Given the description of an element on the screen output the (x, y) to click on. 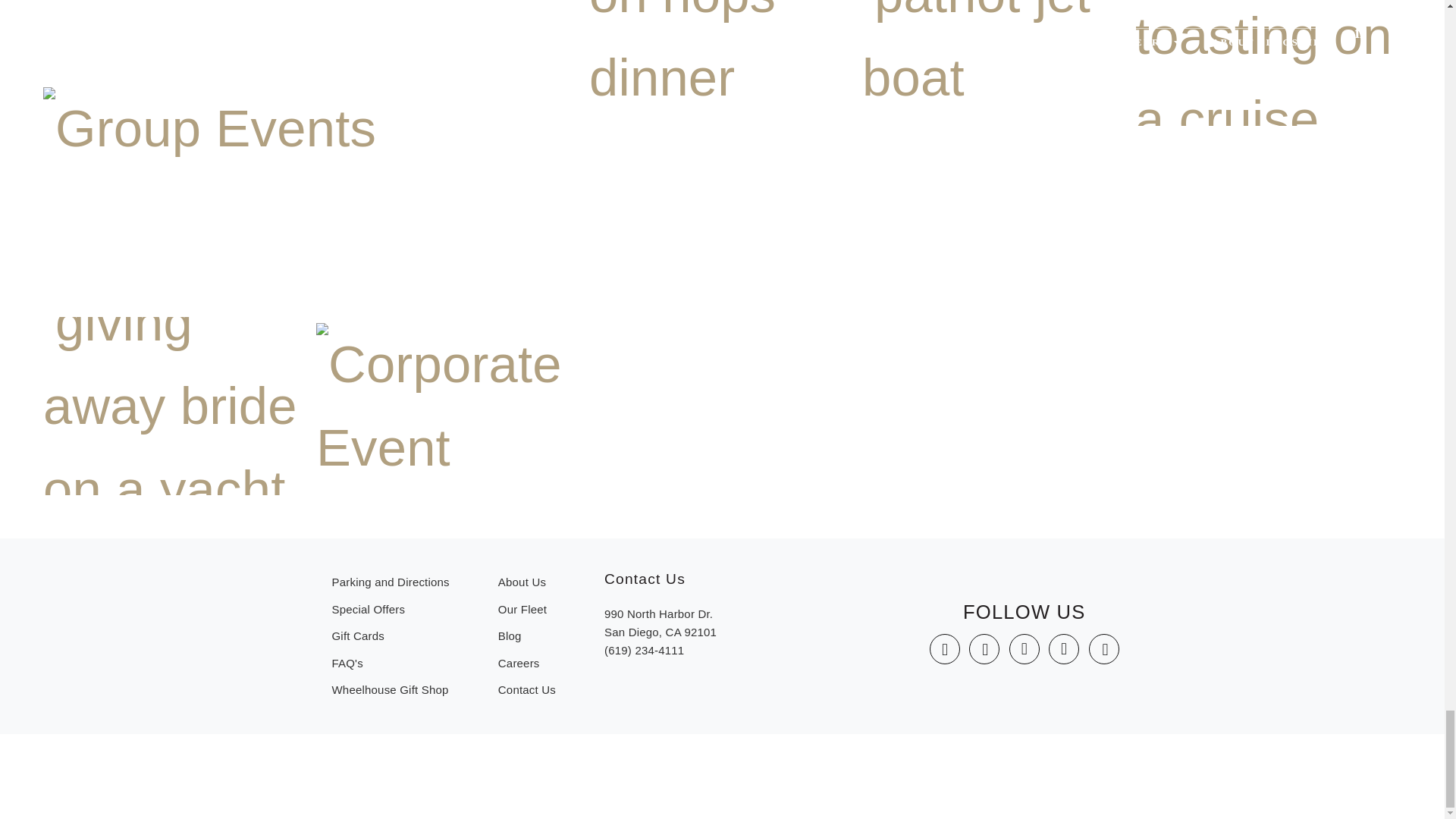
Frequently Asked Questions (390, 663)
The Flagship Difference (527, 582)
Special Offers (390, 609)
Flagship Careers (527, 663)
The Flagship Fleet (527, 609)
Gift Cards (390, 636)
Parking and Directions (390, 582)
